Given the description of an element on the screen output the (x, y) to click on. 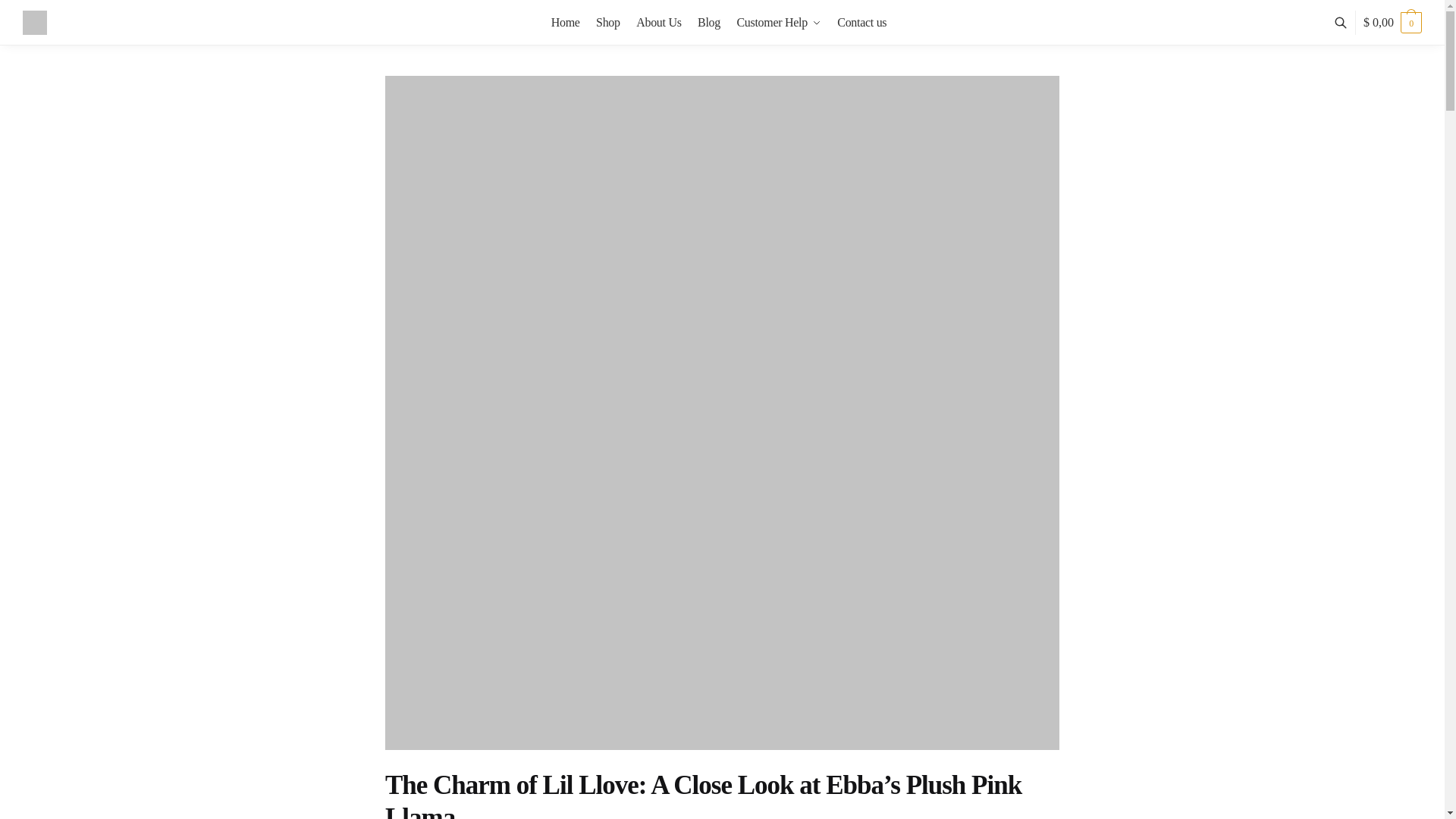
Contact us (861, 22)
About Us (658, 22)
View your shopping cart (1392, 22)
Search (461, 47)
Customer Help (778, 22)
